Given the description of an element on the screen output the (x, y) to click on. 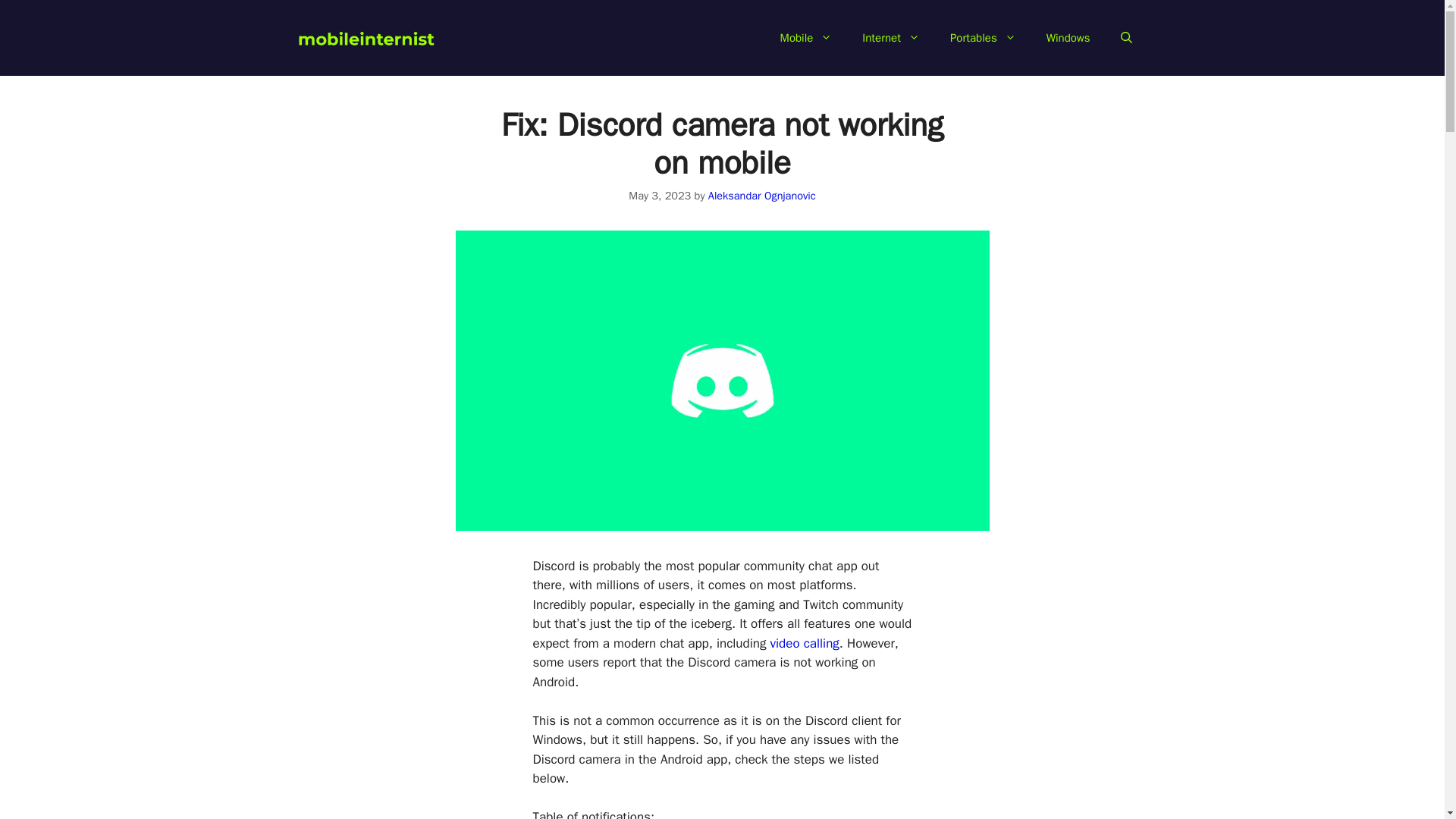
video calling (805, 643)
Internet (890, 37)
Windows (1067, 37)
View all posts by Aleksandar Ognjanovic (761, 195)
Portables (982, 37)
Aleksandar Ognjanovic (761, 195)
Mobile (806, 37)
